Given the description of an element on the screen output the (x, y) to click on. 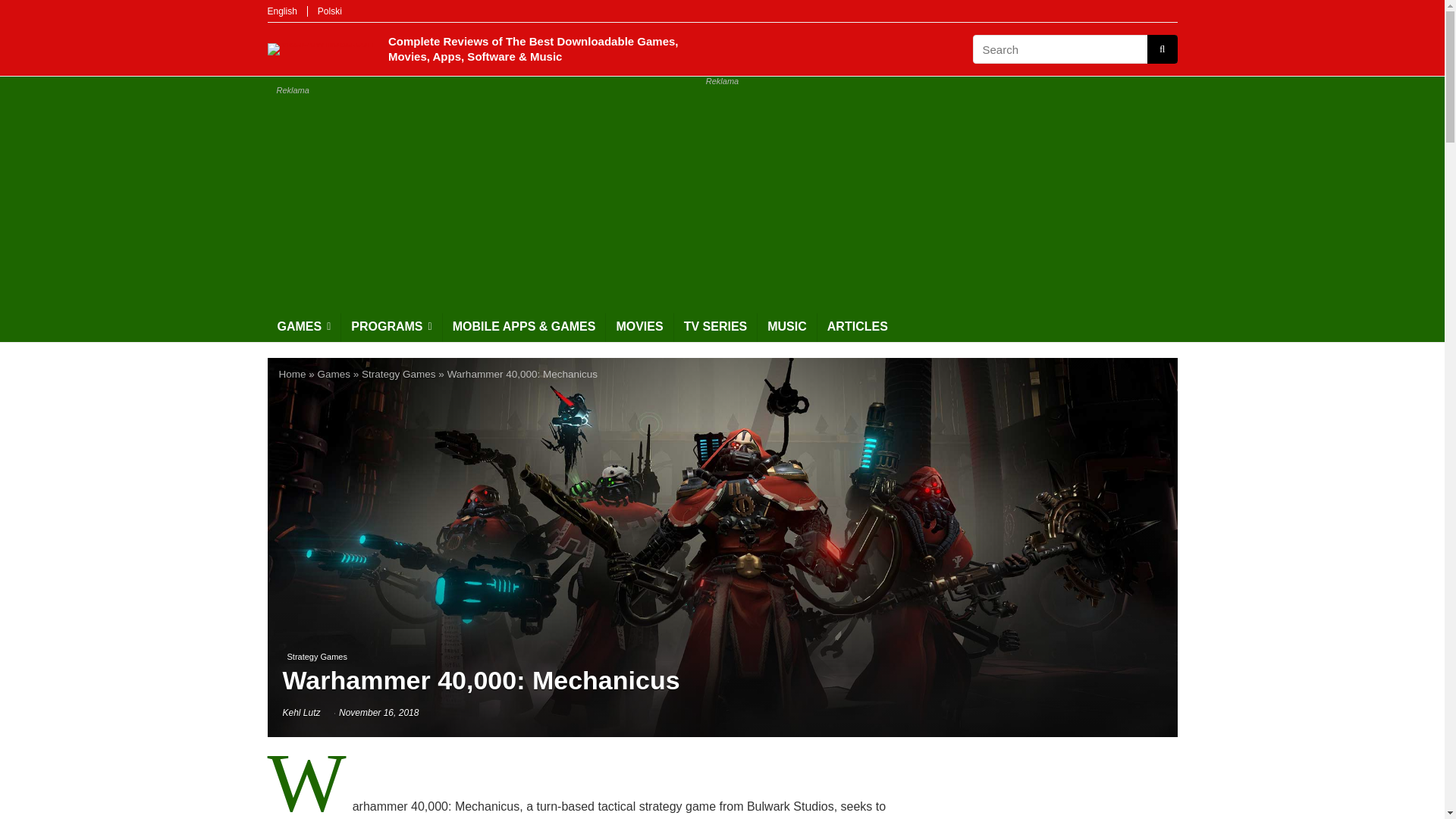
Strategy Games (398, 374)
MOVIES (638, 327)
Games (333, 374)
Kehl Lutz (301, 712)
Home (292, 374)
Polski (329, 10)
TV SERIES (715, 327)
View all posts in Strategy Games (316, 656)
Strategy Games (316, 656)
ARTICLES (857, 327)
